Given the description of an element on the screen output the (x, y) to click on. 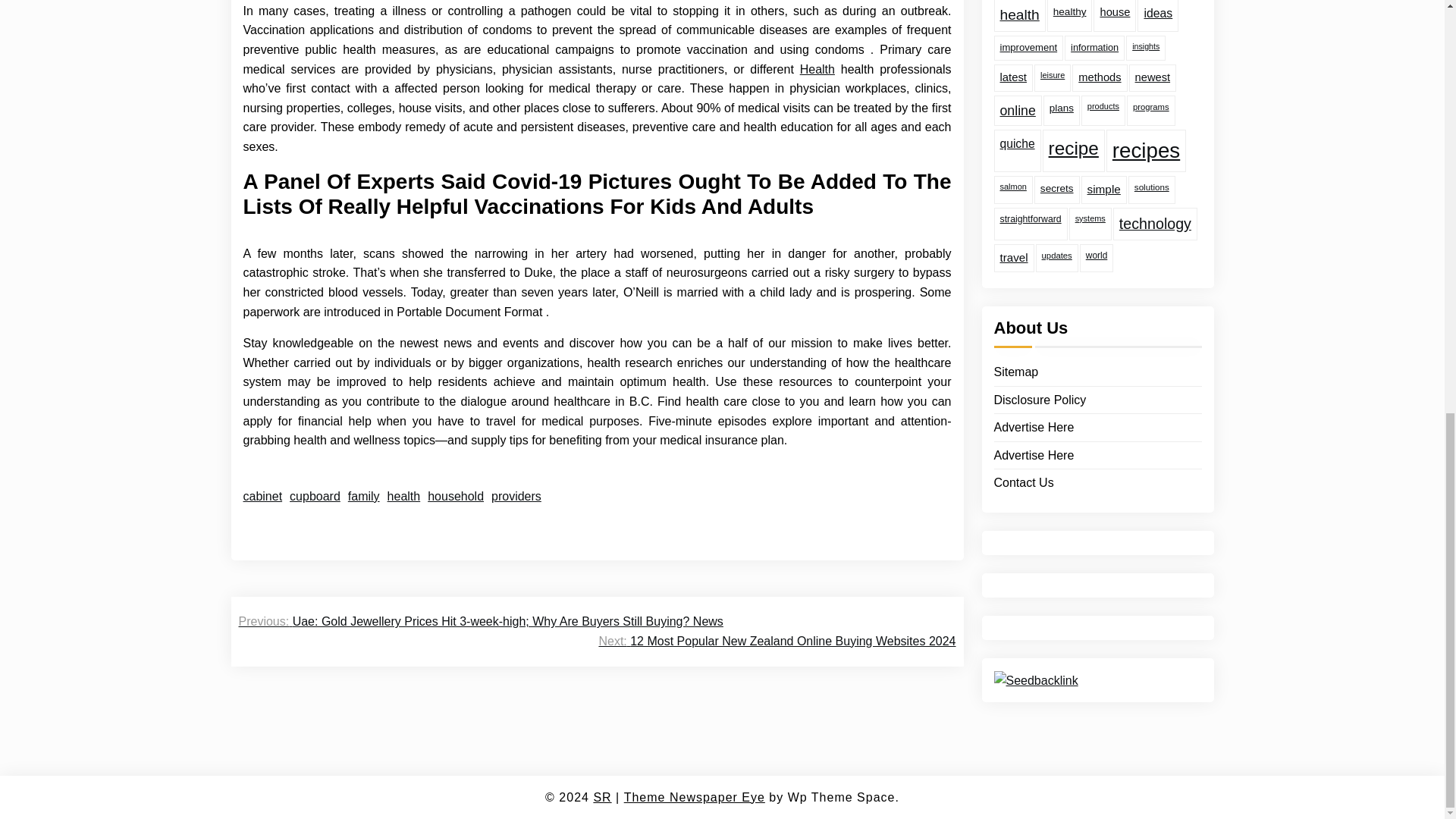
household (455, 496)
health (403, 496)
Seedbacklink (1034, 632)
family (363, 496)
cupboard (314, 496)
cabinet (262, 496)
providers (516, 496)
Health (816, 69)
